Given the description of an element on the screen output the (x, y) to click on. 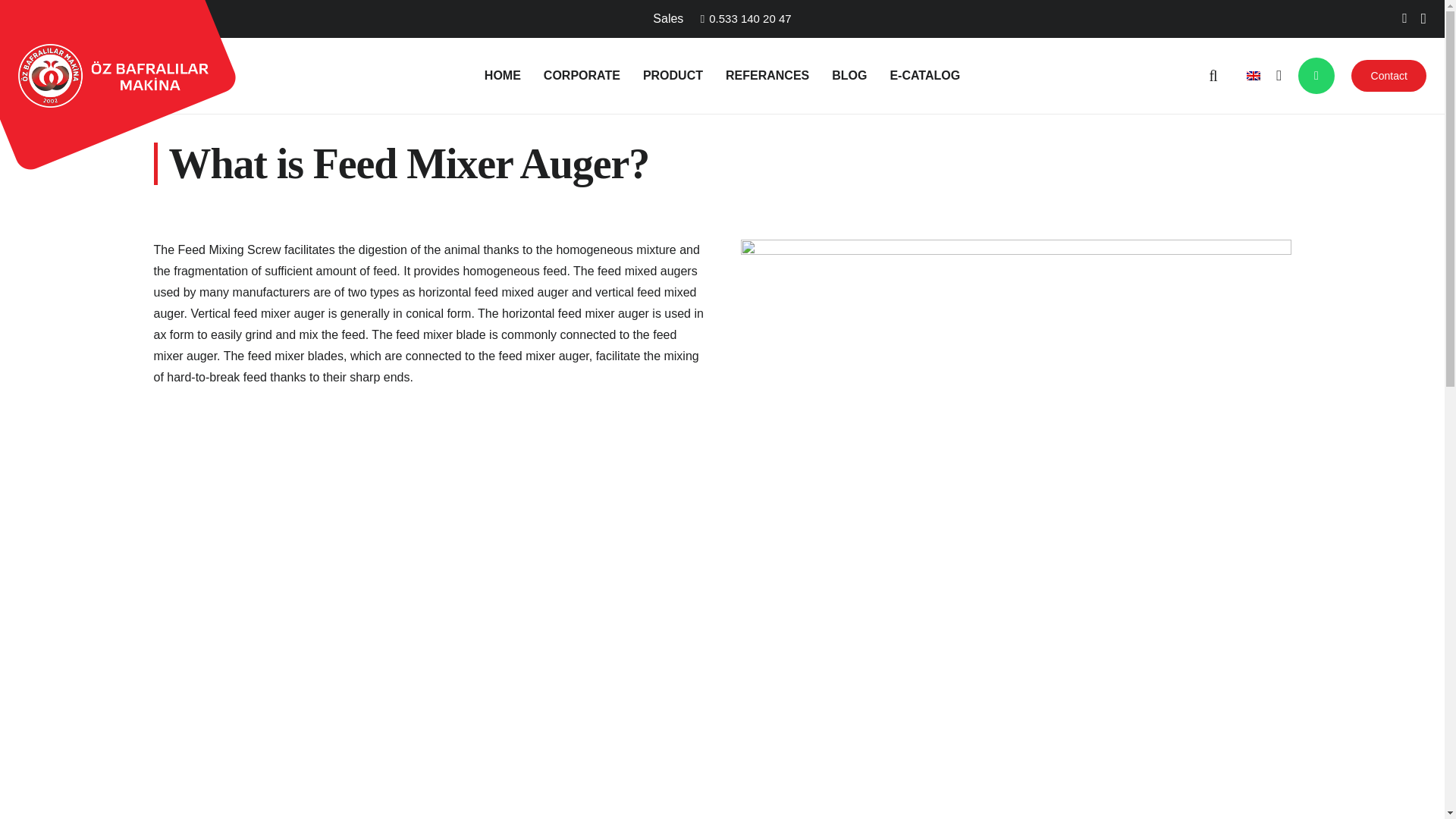
0.533 140 20 47 (746, 18)
CORPORATE (581, 75)
REFERANCES (767, 75)
Contact (1388, 75)
PRODUCT (672, 75)
E-CATALOG (924, 75)
